Given the description of an element on the screen output the (x, y) to click on. 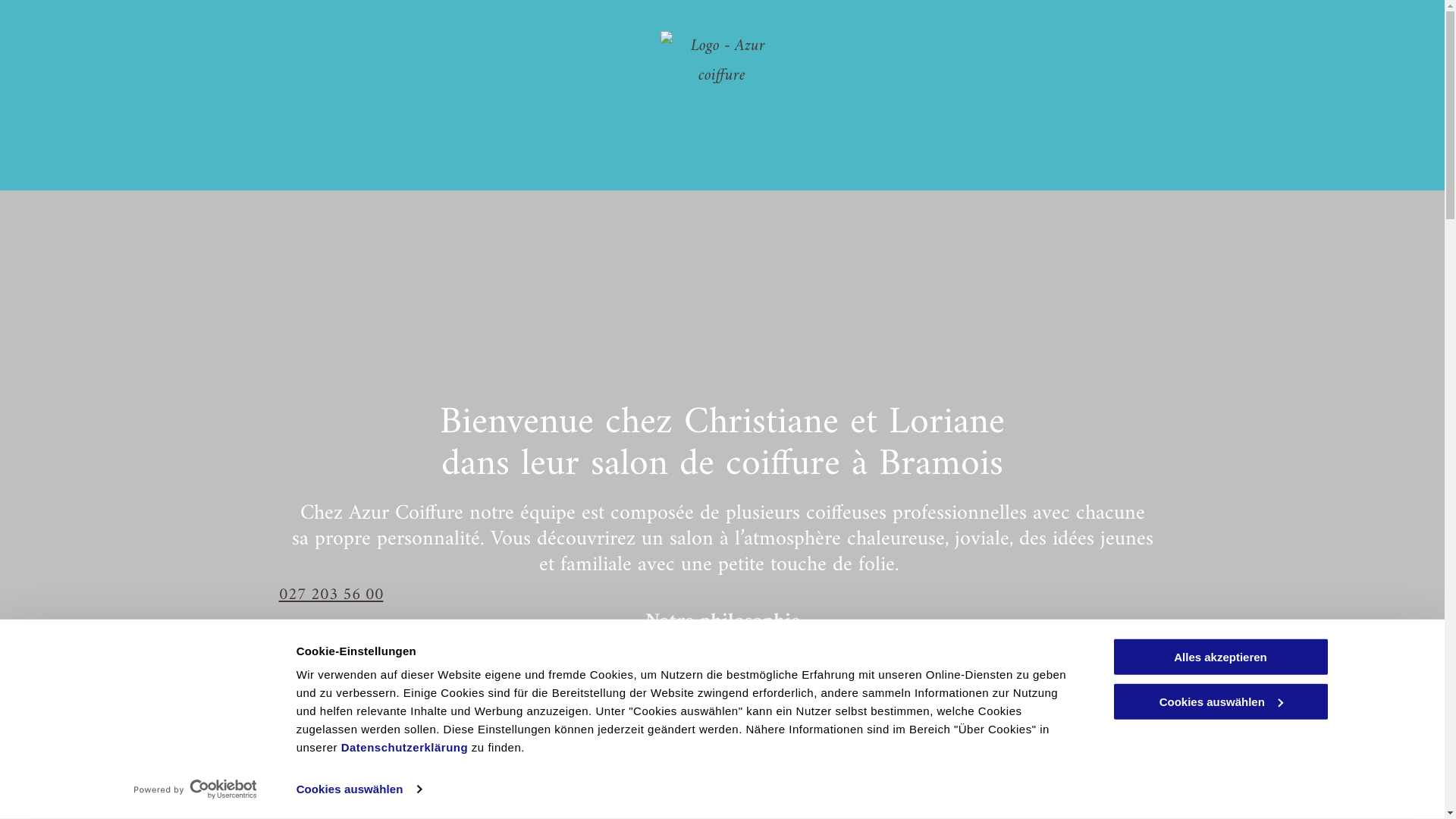
Alles akzeptieren Element type: text (1219, 656)
027 203 56 00 Element type: text (722, 594)
